Given the description of an element on the screen output the (x, y) to click on. 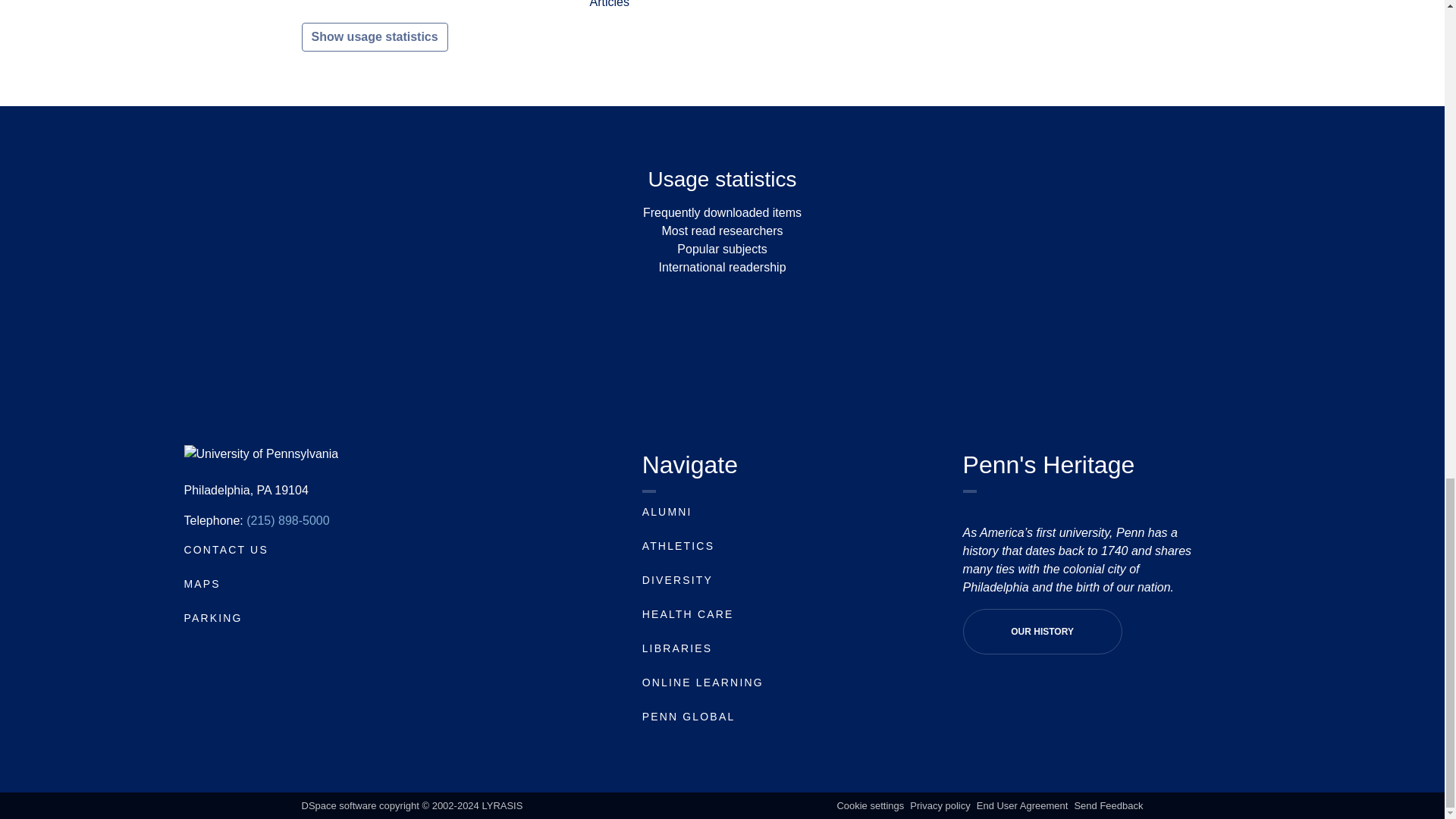
Articles (608, 4)
ATHLETICS (678, 545)
Frequently downloaded items (722, 212)
Most read researchers (722, 230)
PENN GLOBAL (688, 716)
Show usage statistics (374, 36)
LIBRARIES (677, 648)
Most read researchers (722, 230)
International readership (722, 267)
ALUMNI (667, 511)
CONTACT US (225, 549)
Frequently downloaded items (722, 212)
ONLINE LEARNING (702, 682)
DIVERSITY (677, 580)
HEALTH CARE (687, 613)
